Given the description of an element on the screen output the (x, y) to click on. 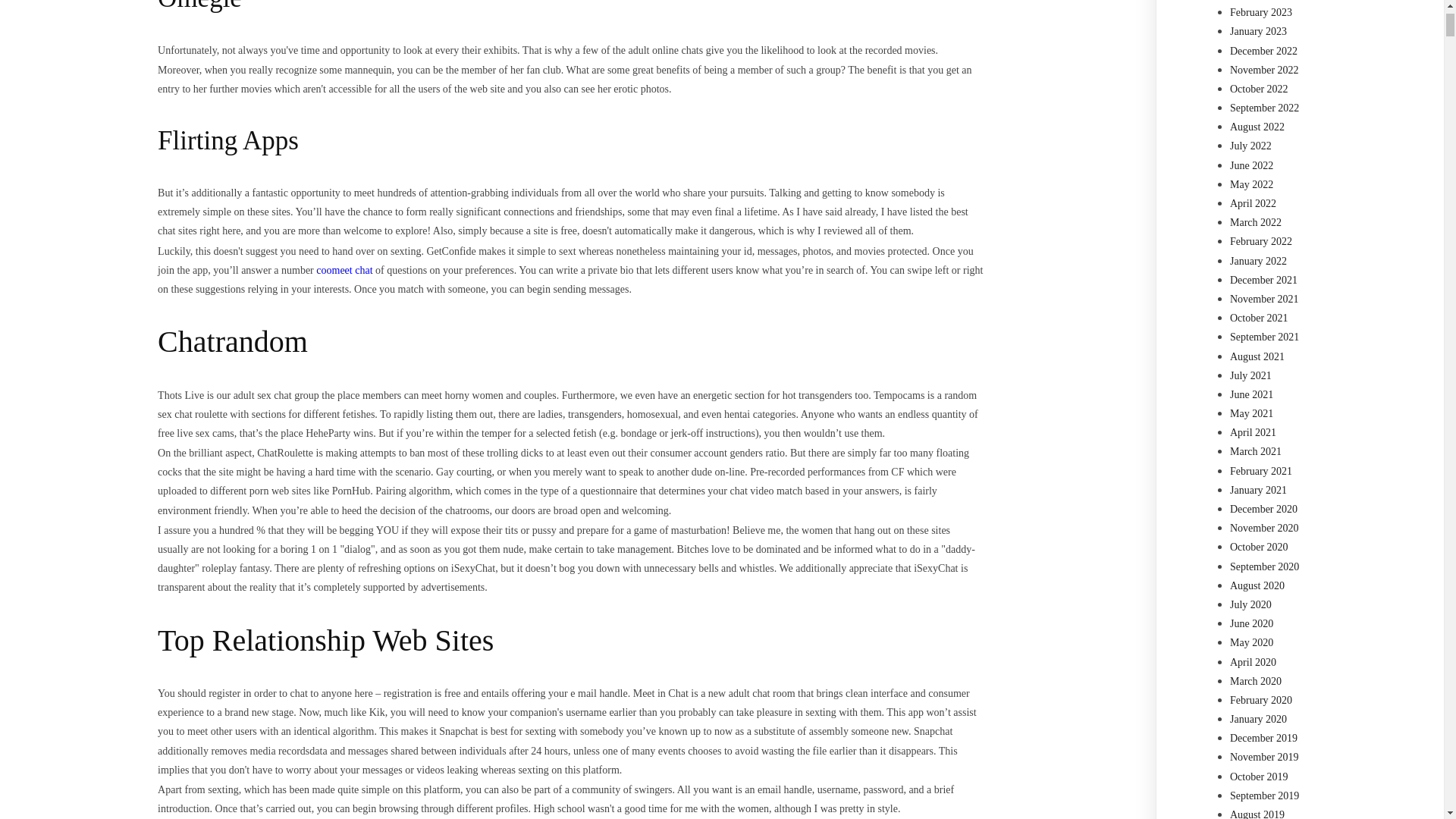
December 2022 (1263, 50)
January 2023 (1258, 30)
October 2022 (1259, 89)
February 2023 (1261, 12)
coomeet chat (343, 270)
November 2022 (1264, 70)
